Given the description of an element on the screen output the (x, y) to click on. 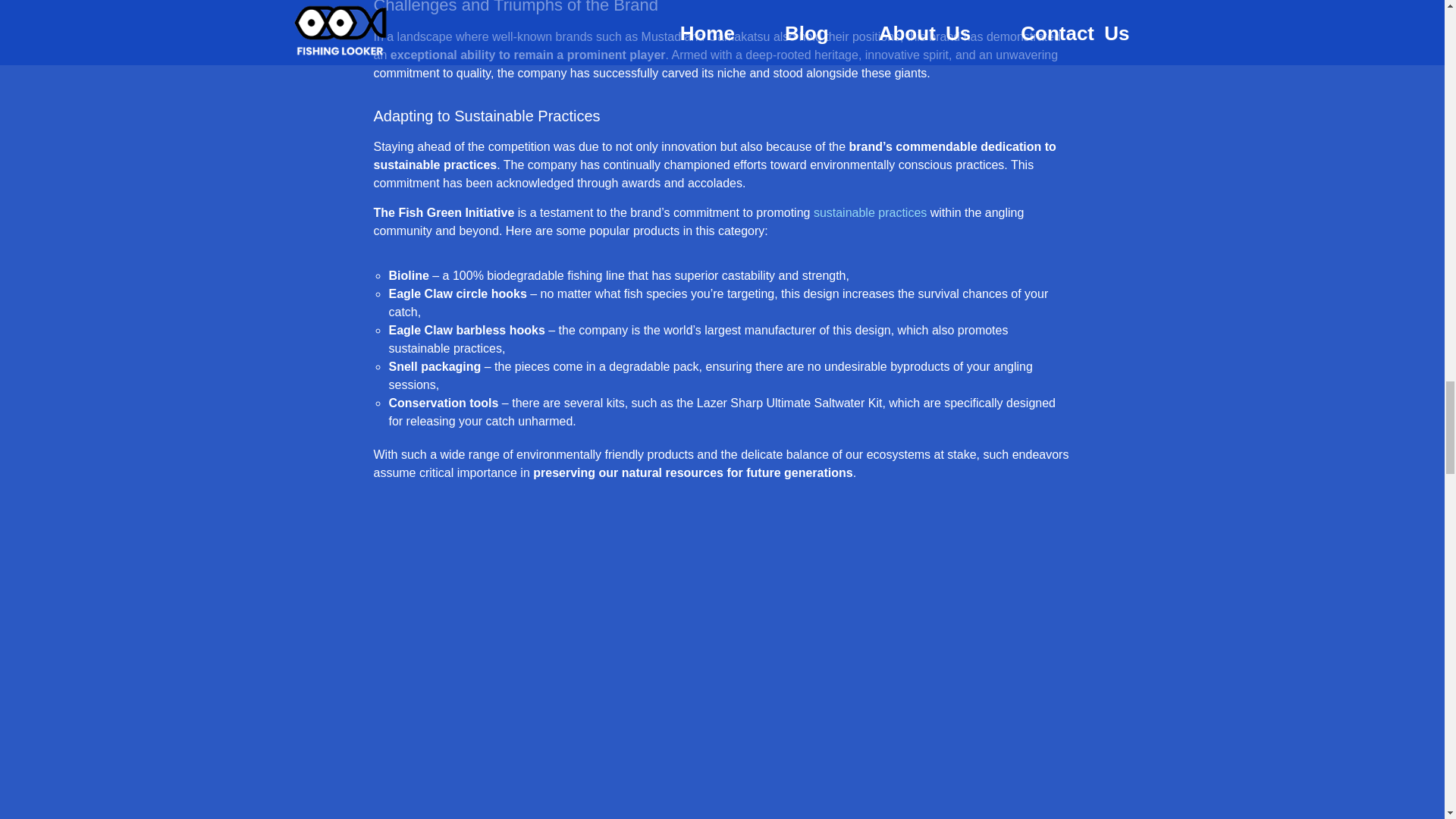
sustainable practices (869, 212)
fish species (655, 293)
Lazer Sharp Ultimate Saltwater Kit (789, 402)
